Given the description of an element on the screen output the (x, y) to click on. 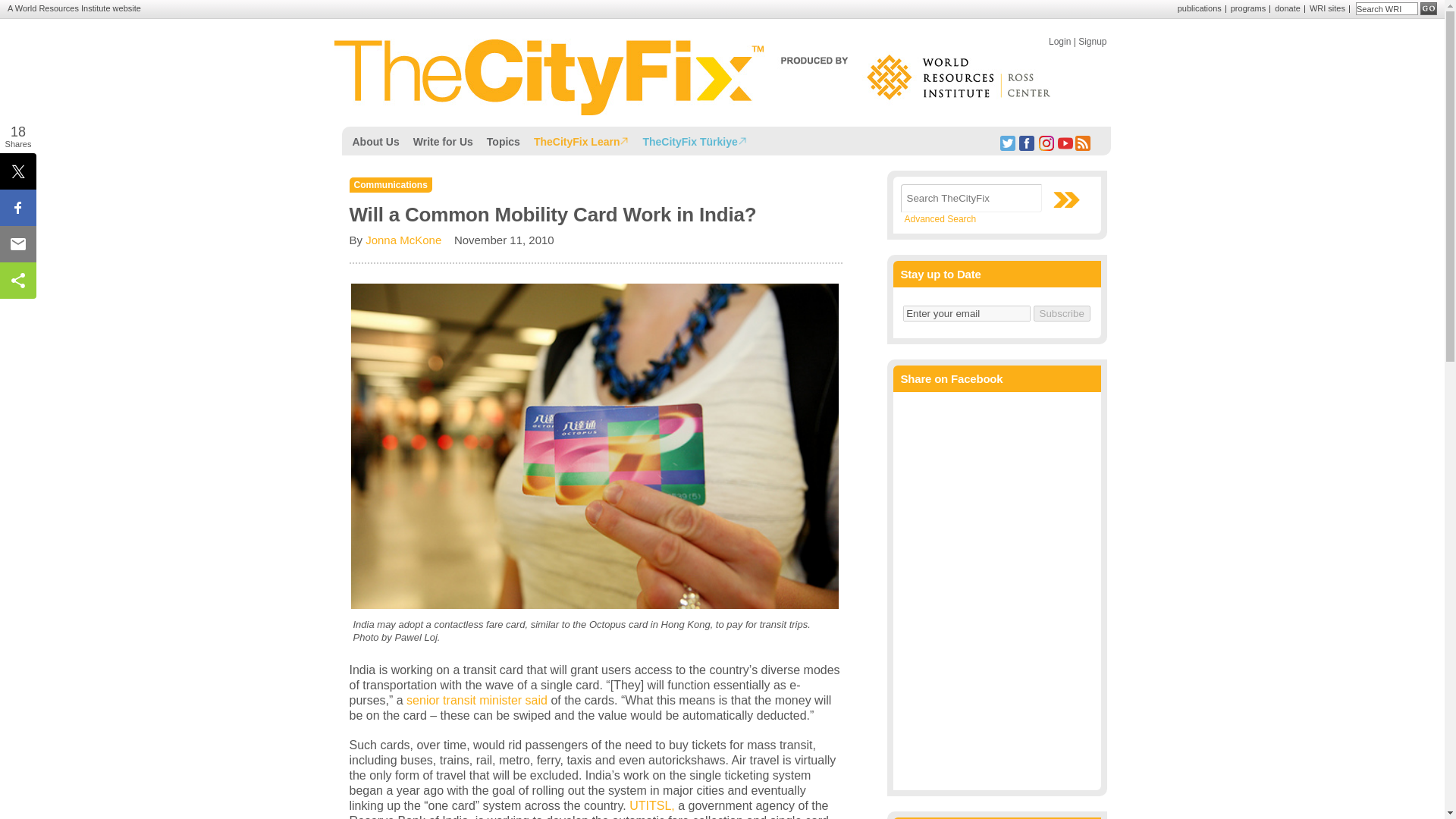
Search TheCityFix (971, 198)
programs (1247, 8)
Subscribe (1061, 313)
Login (1059, 41)
Write for Us (443, 140)
Go (1429, 8)
donate (1287, 8)
Subscribe (1061, 313)
Advanced Search (939, 218)
Go (1429, 8)
World Resources Institute (62, 8)
Search WRI (1386, 8)
Enter your email (966, 313)
Signup (1092, 41)
publications (1199, 8)
